Given the description of an element on the screen output the (x, y) to click on. 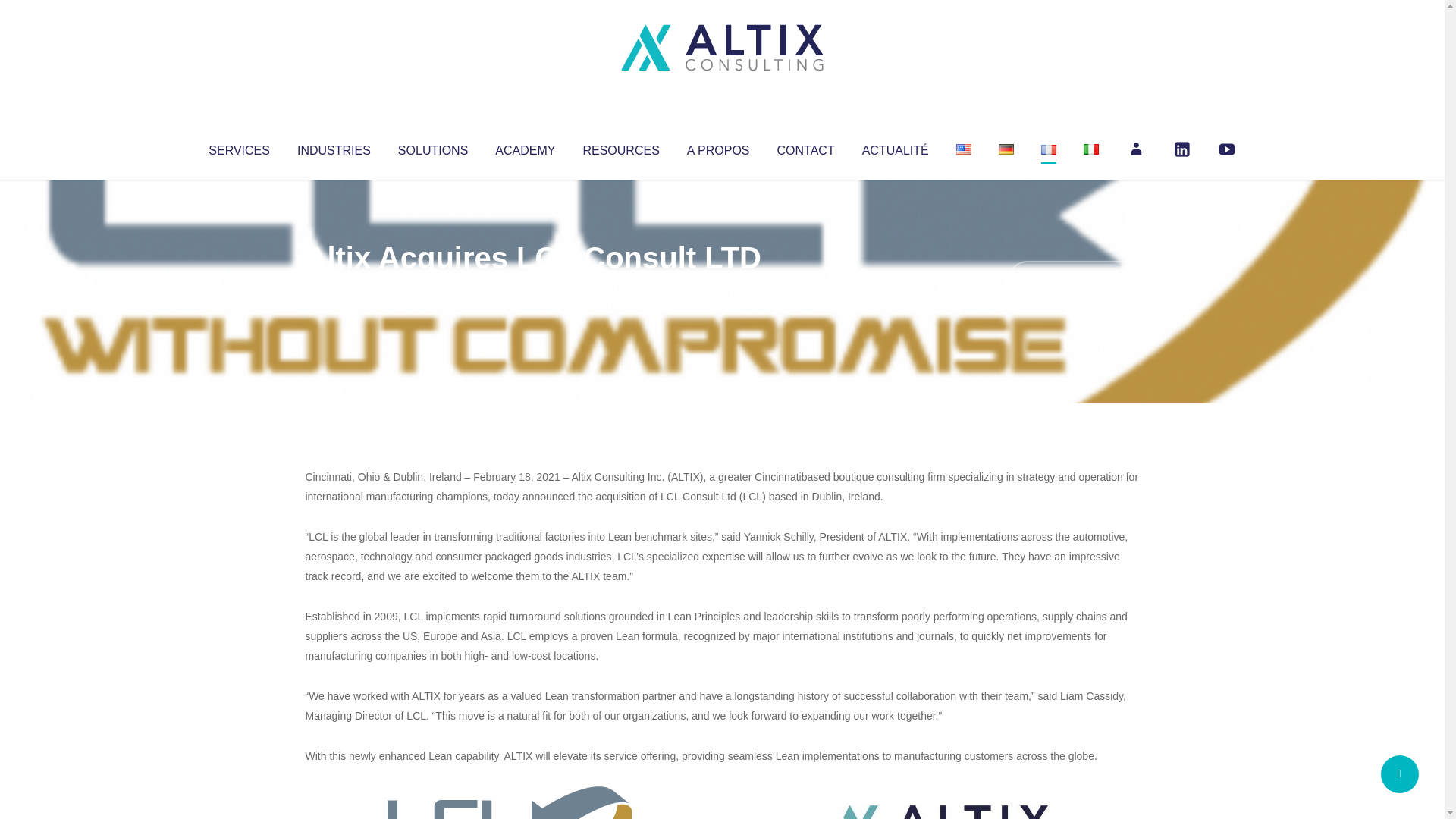
INDUSTRIES (334, 146)
Altix (333, 287)
RESOURCES (620, 146)
SOLUTIONS (432, 146)
ACADEMY (524, 146)
No Comments (1073, 278)
SERVICES (238, 146)
A PROPOS (718, 146)
Articles par Altix (333, 287)
Uncategorized (530, 287)
